Given the description of an element on the screen output the (x, y) to click on. 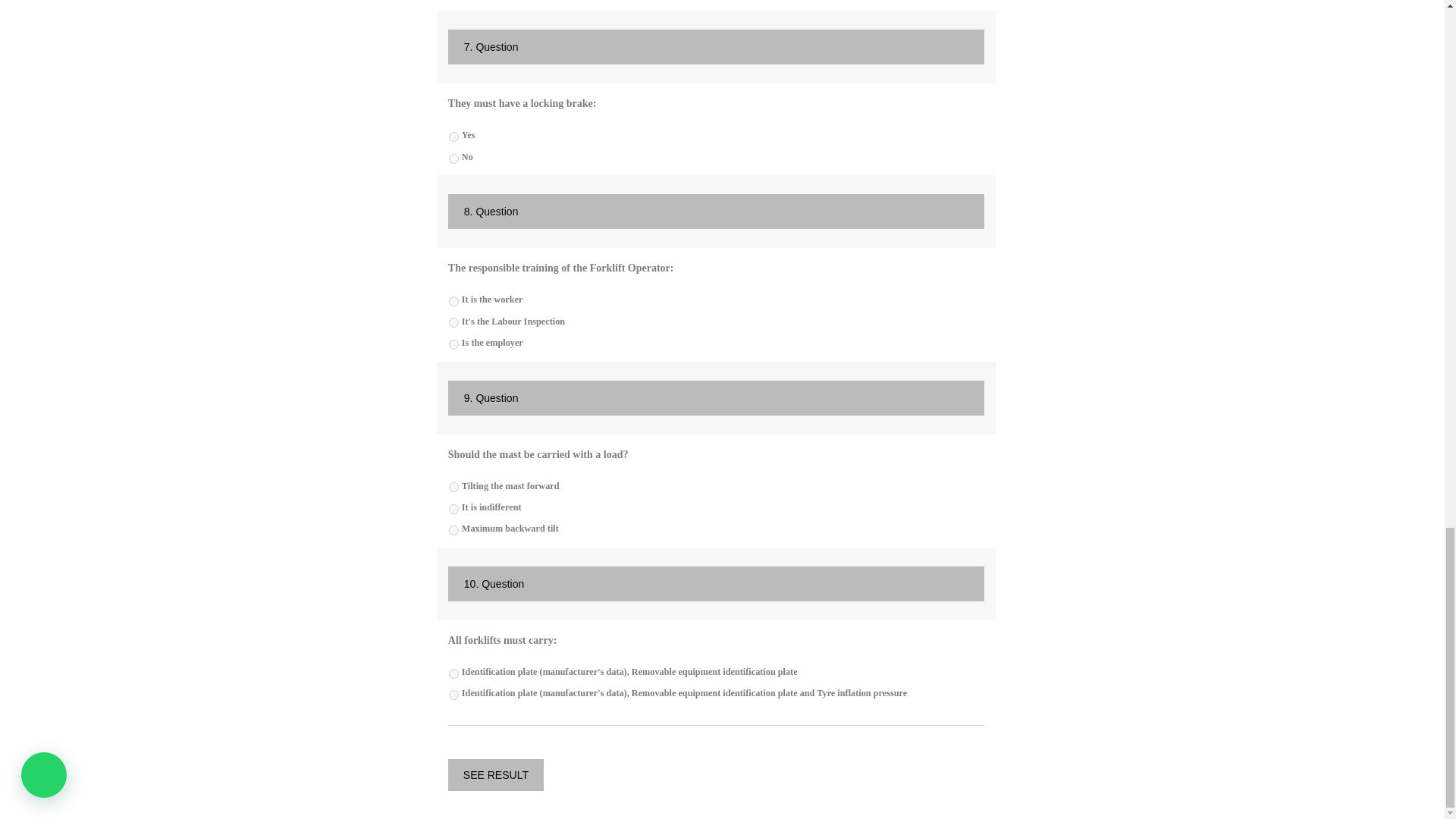
gquiz21ef2472b0 (453, 158)
gquiz134fc40cf (453, 322)
10. Question (716, 583)
gquiz1b055fe72 (453, 301)
9. Question (716, 397)
gquiz21f5bd588d (453, 136)
SEE RESULT (495, 775)
7. Question (716, 46)
8. Question (716, 211)
